Given the description of an element on the screen output the (x, y) to click on. 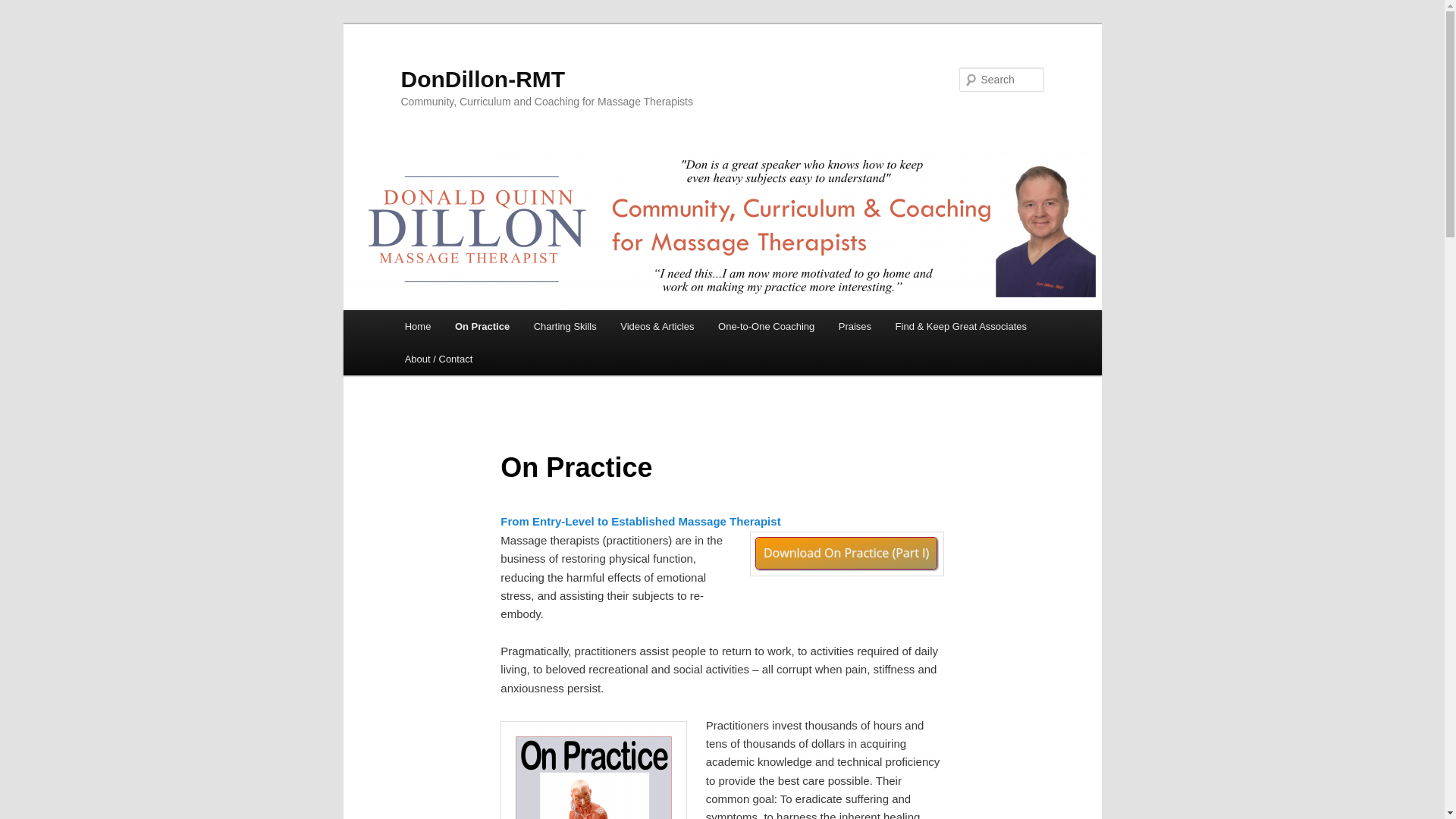
Charting Skills (564, 326)
DonDillon-RMT (482, 78)
Home (417, 326)
One-to-One Coaching (766, 326)
From Entry-Level to Established Massage Therapist (640, 521)
Praises (855, 326)
On Practice (481, 326)
Search (24, 8)
